Given the description of an element on the screen output the (x, y) to click on. 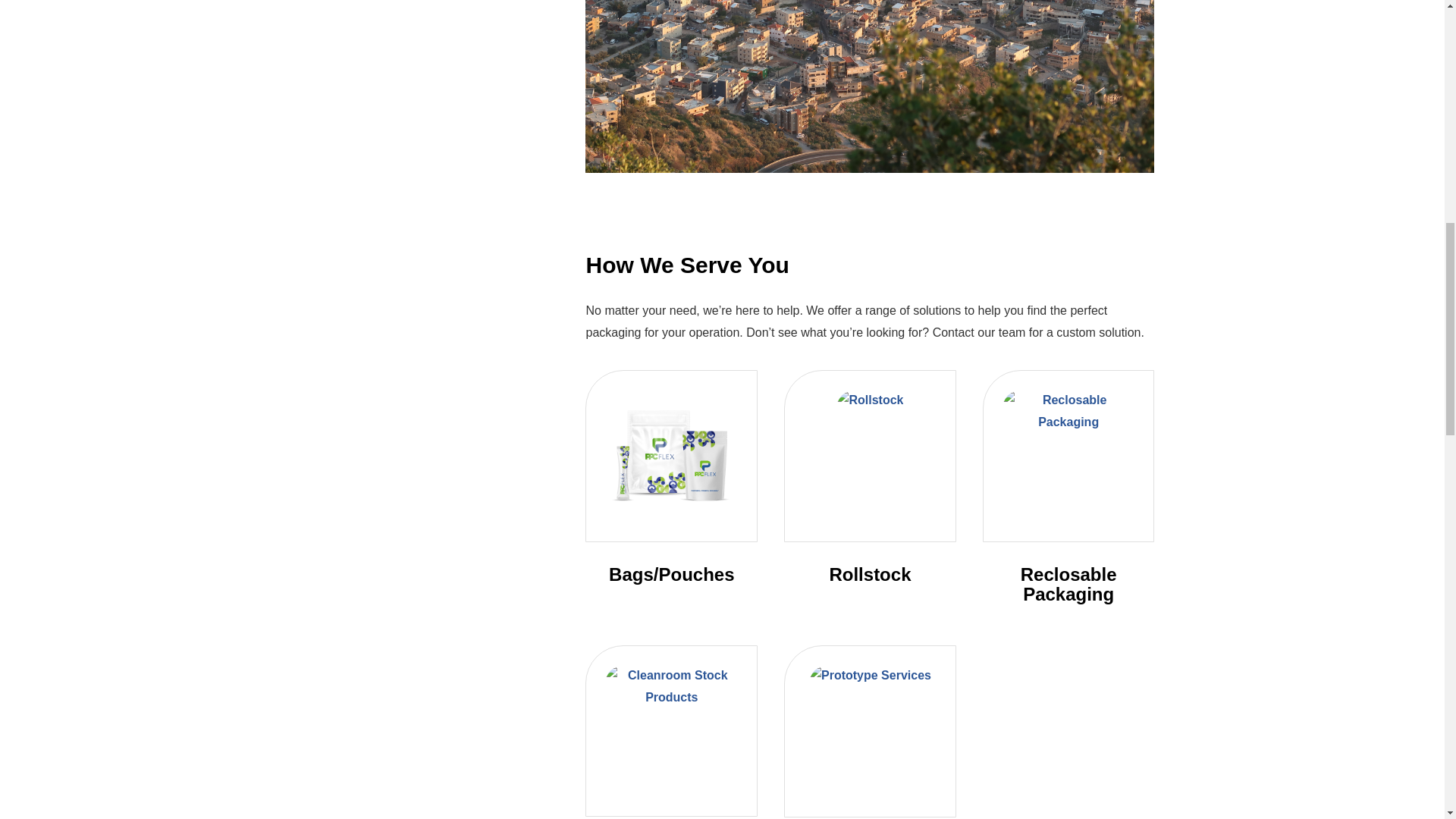
Israel packaging (869, 86)
